Given the description of an element on the screen output the (x, y) to click on. 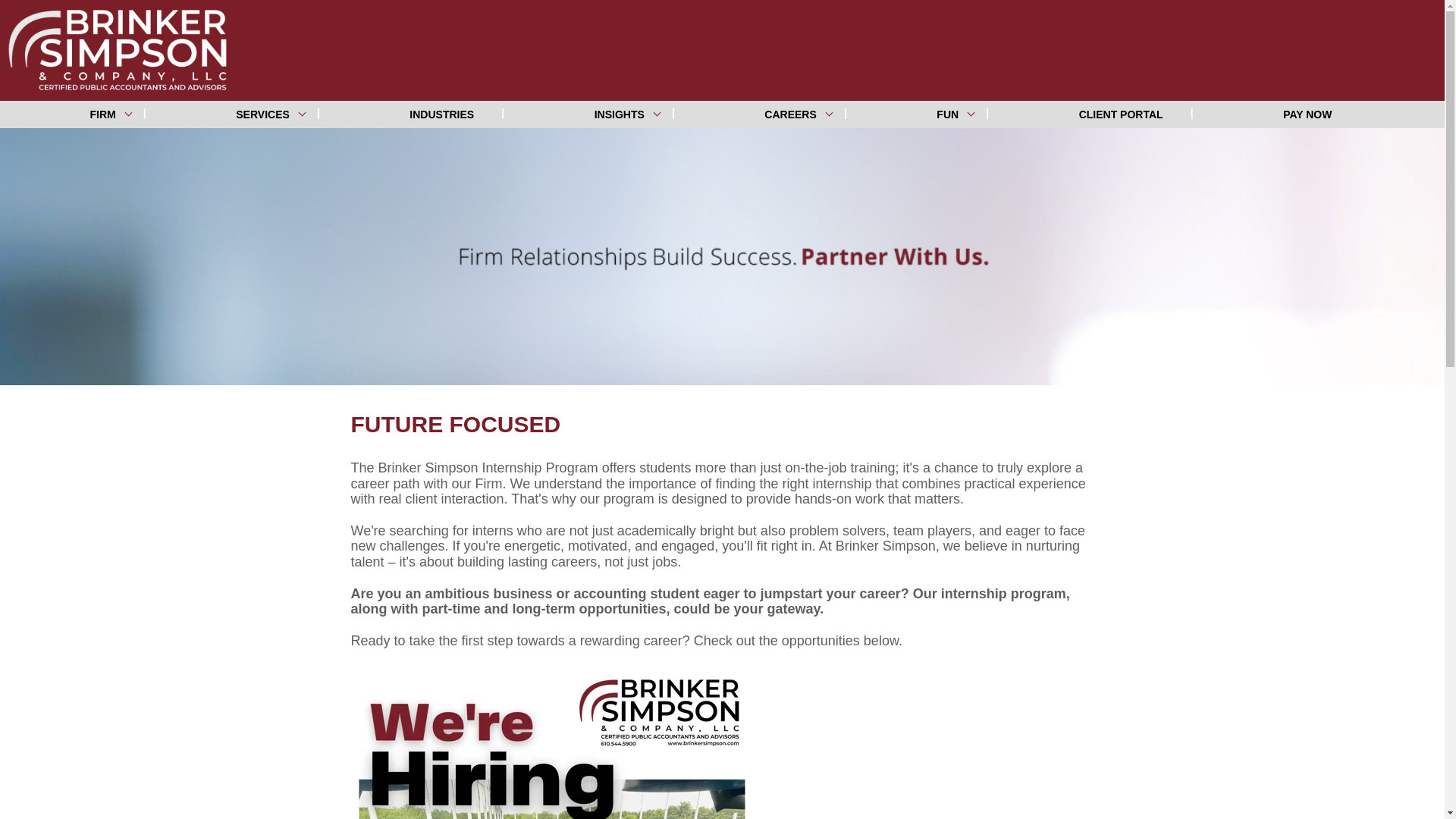
Brinker Simpson Logo (120, 50)
SERVICES (274, 113)
FIRM (114, 113)
